Given the description of an element on the screen output the (x, y) to click on. 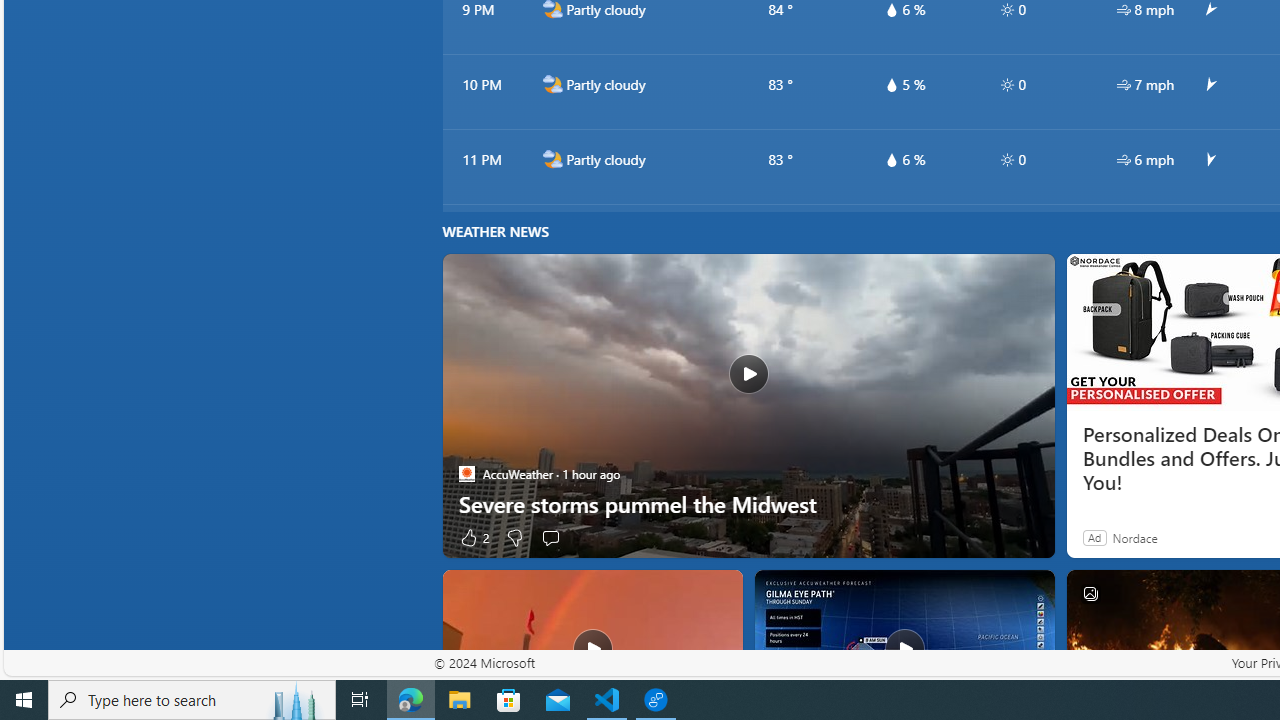
common/arrow (1209, 160)
AccuWeather (466, 473)
2 Like (473, 537)
n2000 (552, 159)
Severe storms pummel the Midwest (748, 503)
hourlyTable/drop (891, 159)
hourlyTable/wind (1123, 159)
hourlyTable/uv (1007, 159)
